Given the description of an element on the screen output the (x, y) to click on. 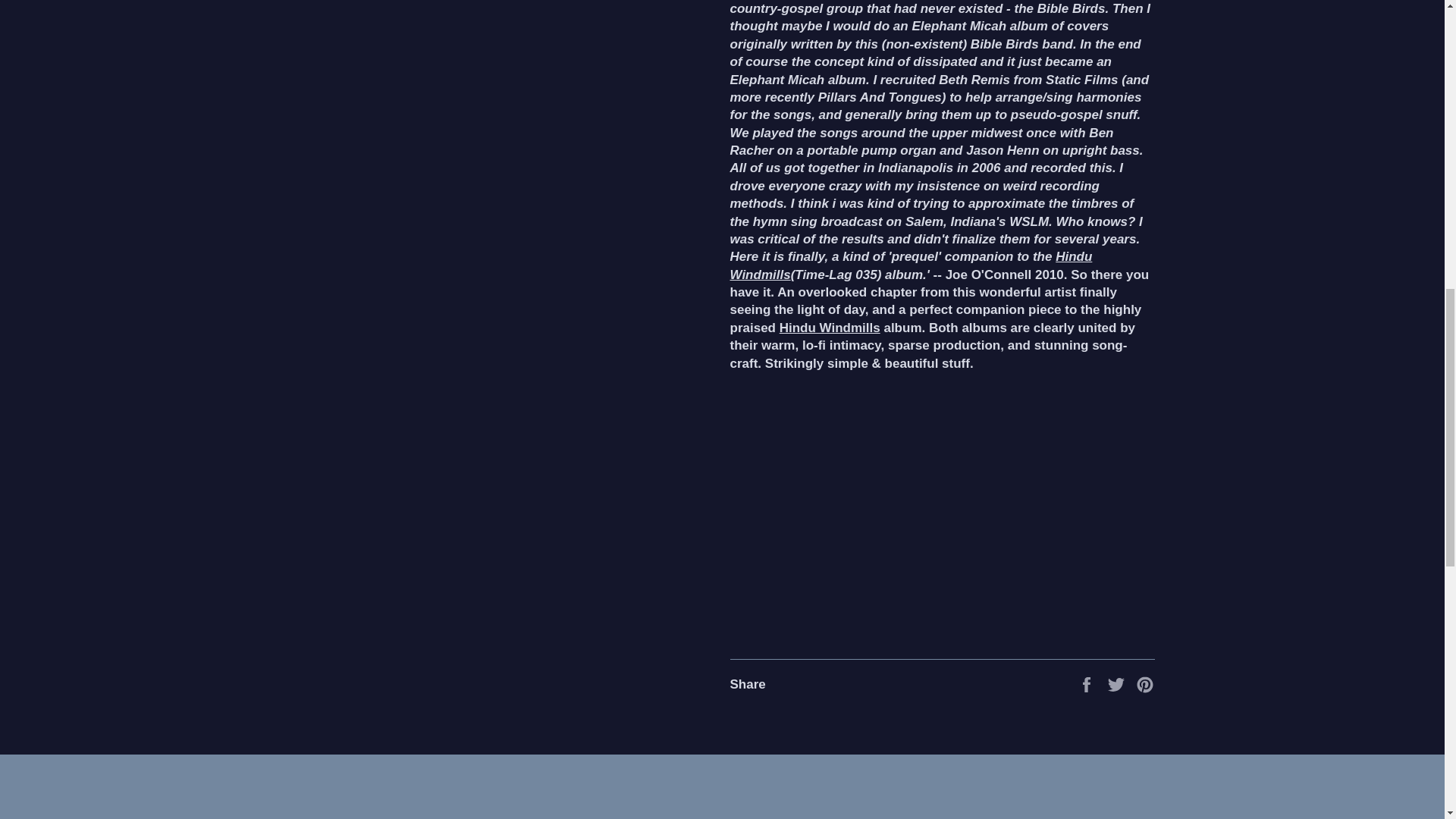
Tweet on Twitter (1117, 683)
Share on Facebook (1088, 683)
Pin on Pinterest (1144, 683)
Pin on Pinterest (1144, 683)
Tweet on Twitter (1117, 683)
Share on Facebook (1088, 683)
